Given the description of an element on the screen output the (x, y) to click on. 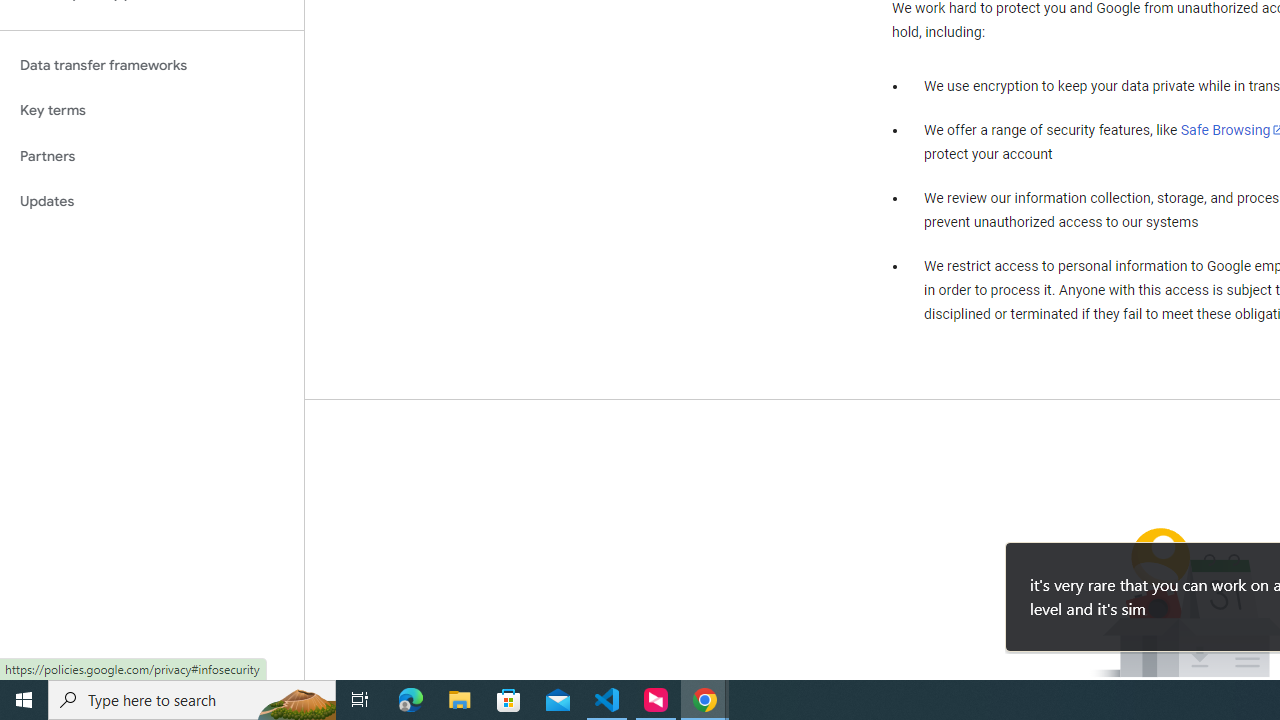
Data transfer frameworks (152, 65)
Key terms (152, 110)
Partners (152, 156)
